Given the description of an element on the screen output the (x, y) to click on. 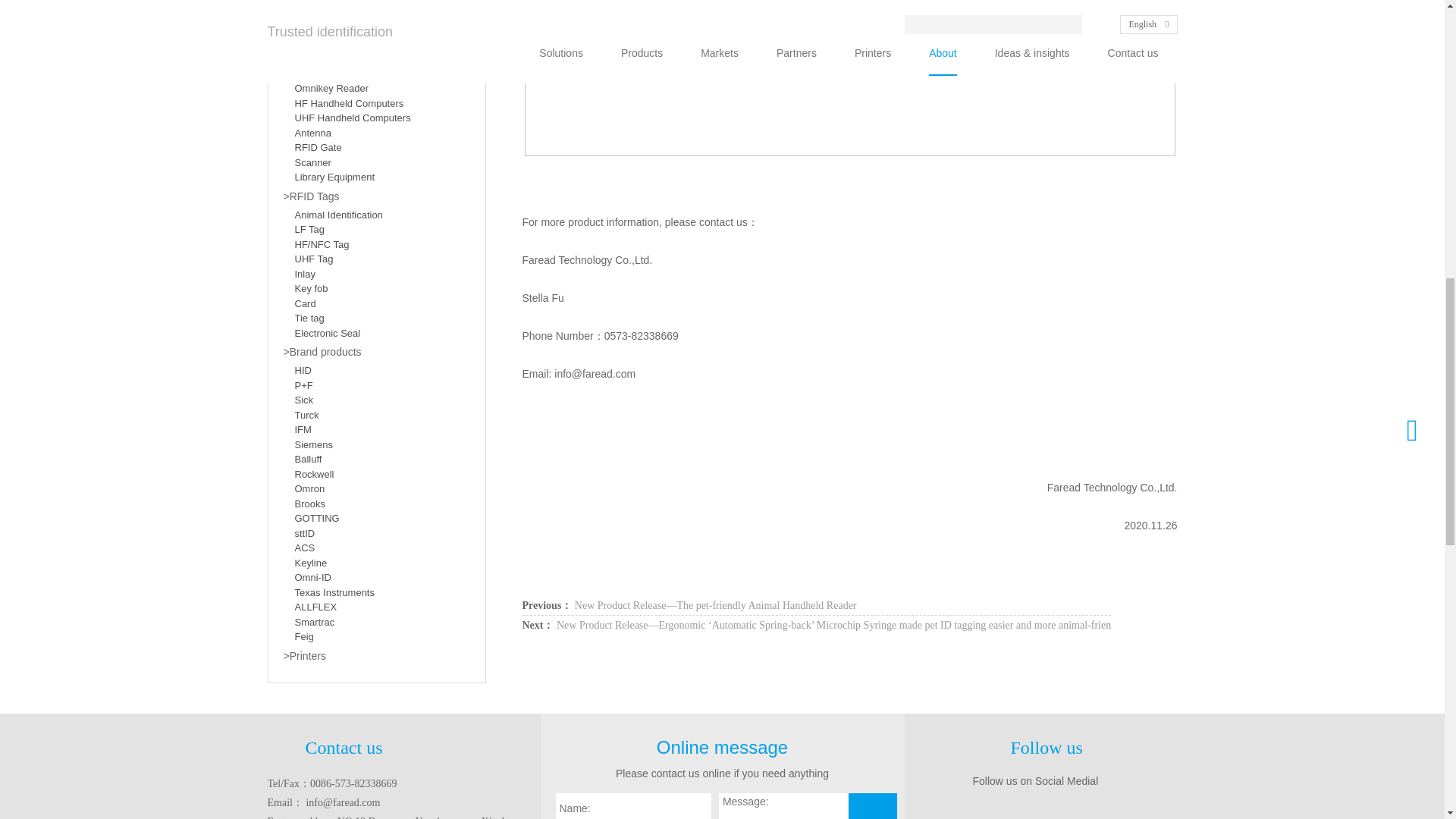
Submit (872, 806)
